Given the description of an element on the screen output the (x, y) to click on. 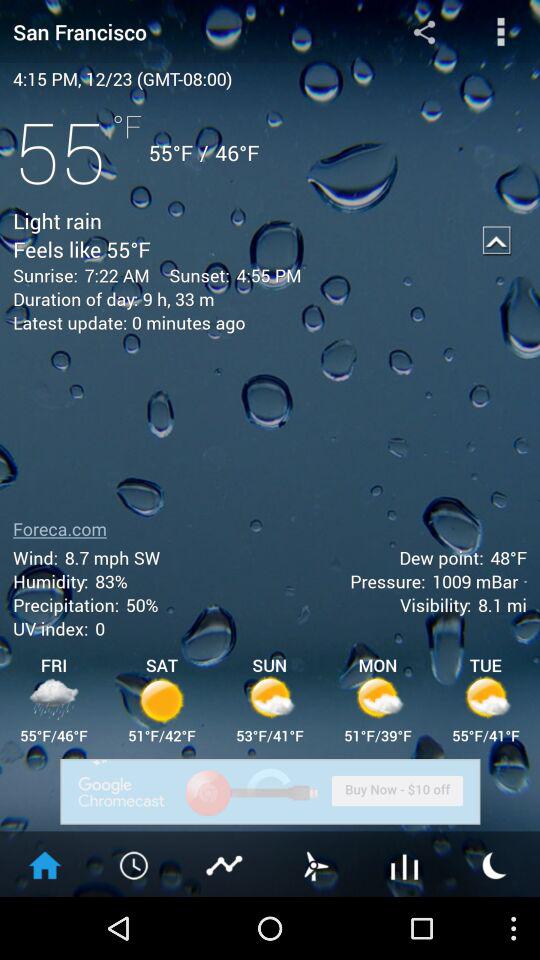
the more options button (500, 31)
